Given the description of an element on the screen output the (x, y) to click on. 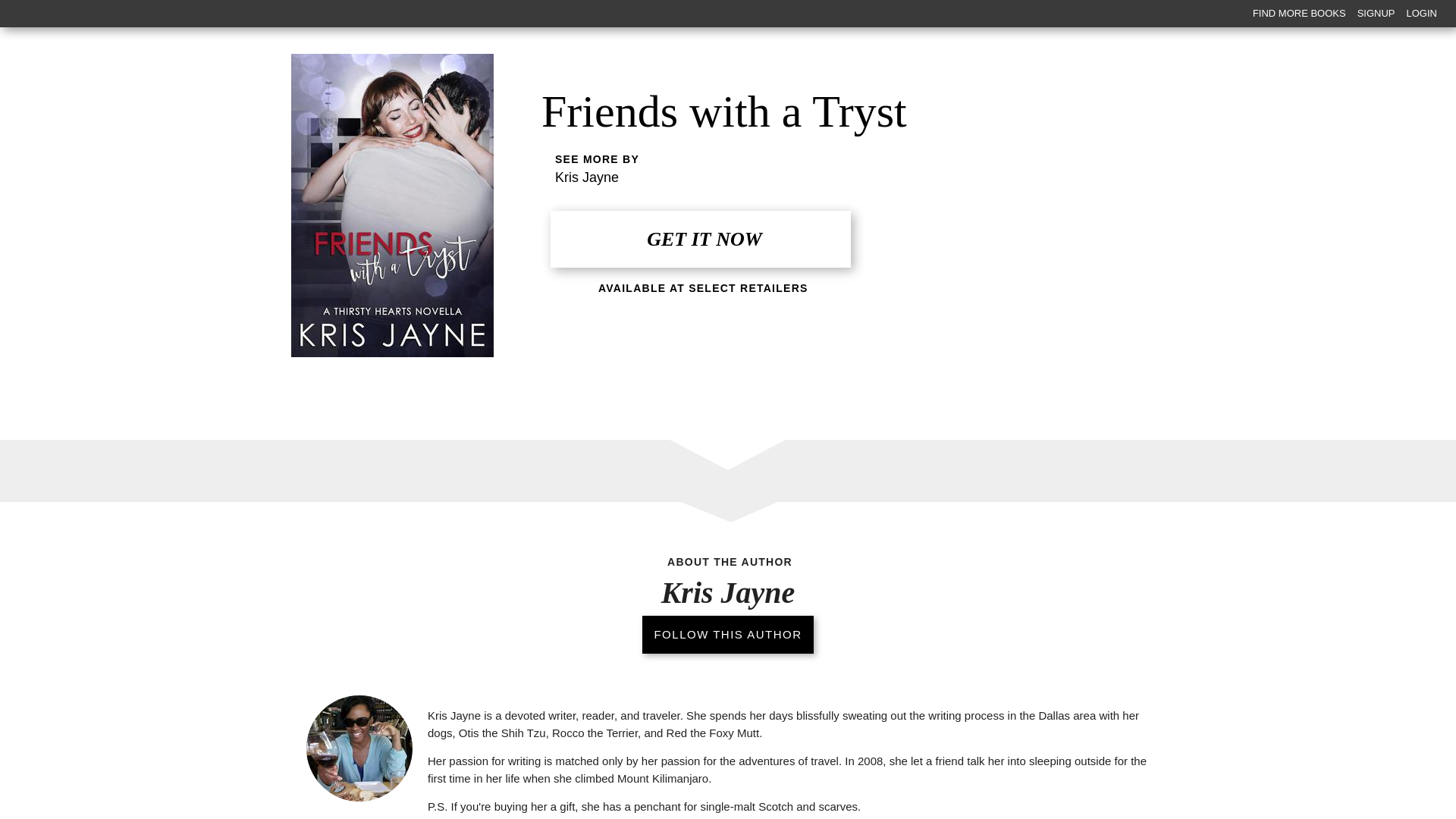
GET IT NOW (700, 238)
LOGIN (1420, 13)
FIND MORE BOOKS (1297, 13)
Kris Jayne (586, 177)
SIGNUP (1374, 13)
